Given the description of an element on the screen output the (x, y) to click on. 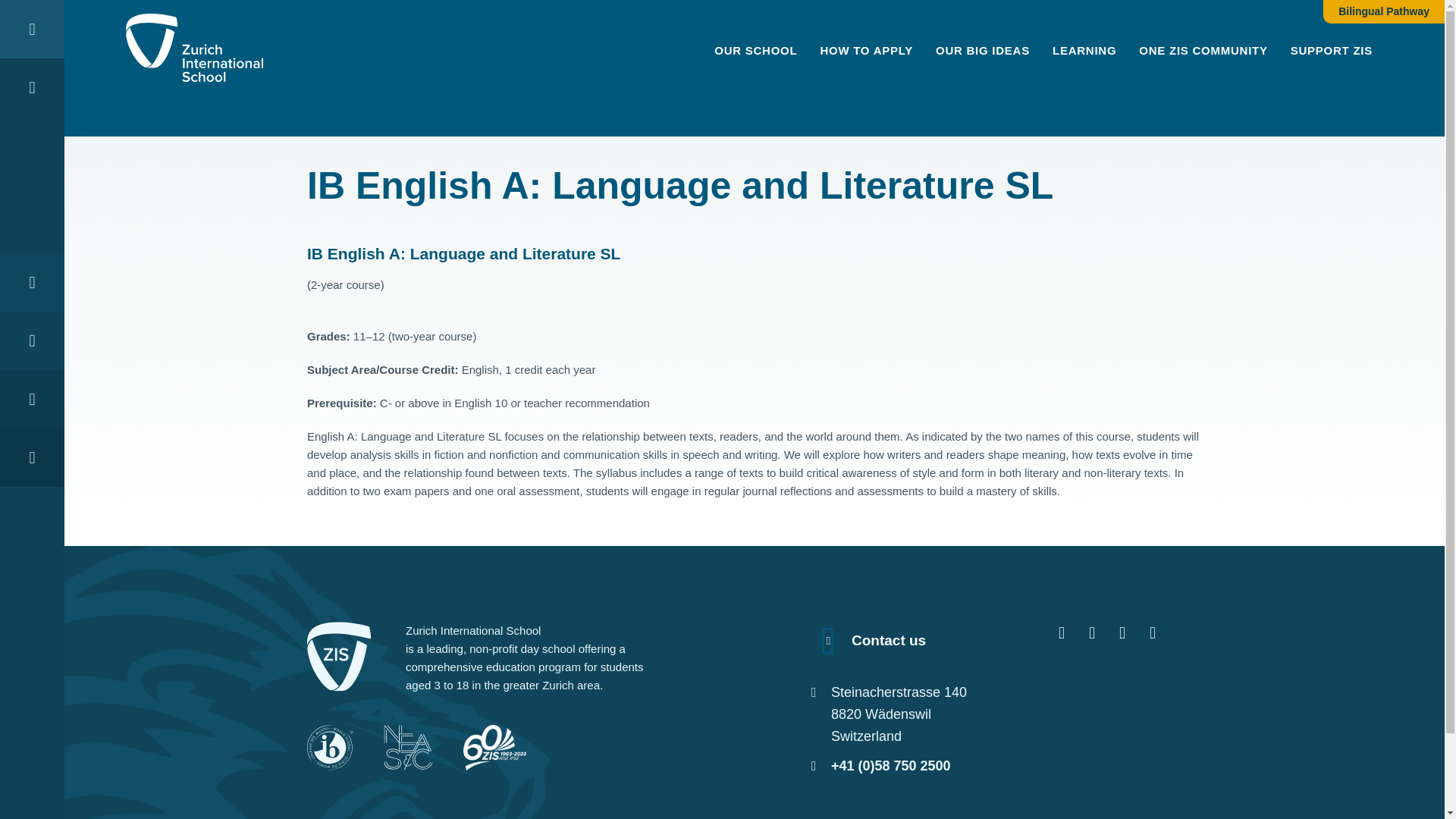
LEARNING (1083, 50)
OUR BIG IDEAS (982, 50)
OUR SCHOOL (755, 50)
HOW TO APPLY (866, 50)
Zurich International School (194, 49)
